Given the description of an element on the screen output the (x, y) to click on. 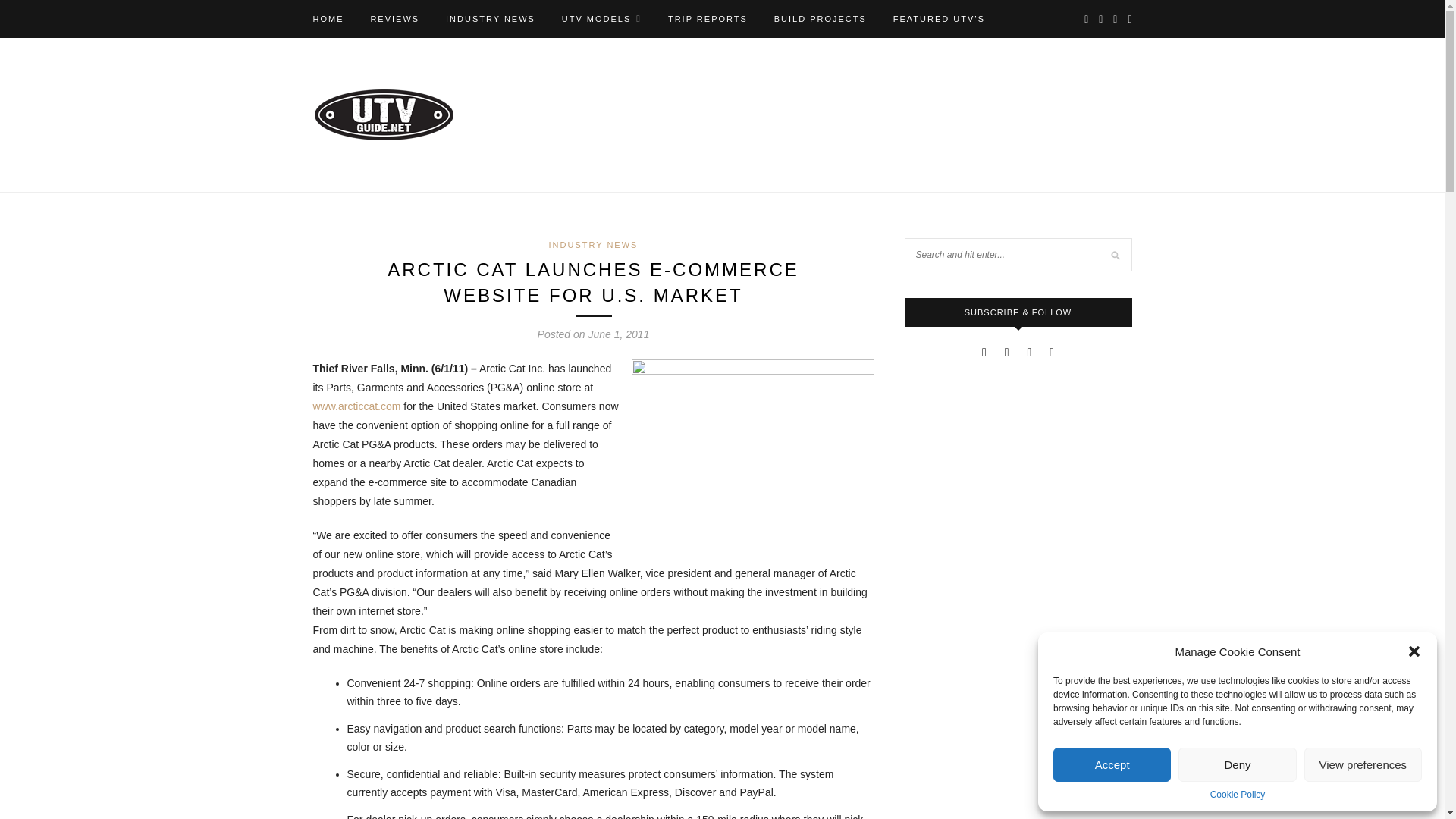
3rd party ad content (1017, 602)
View preferences (1363, 764)
REVIEWS (394, 18)
BUILD PROJECTS (820, 18)
Accept (1111, 764)
Deny (1236, 764)
UTV MODELS (602, 18)
HOME (328, 18)
Cookie Policy (1237, 794)
INDUSTRY NEWS (490, 18)
TRIP REPORTS (708, 18)
